Given the description of an element on the screen output the (x, y) to click on. 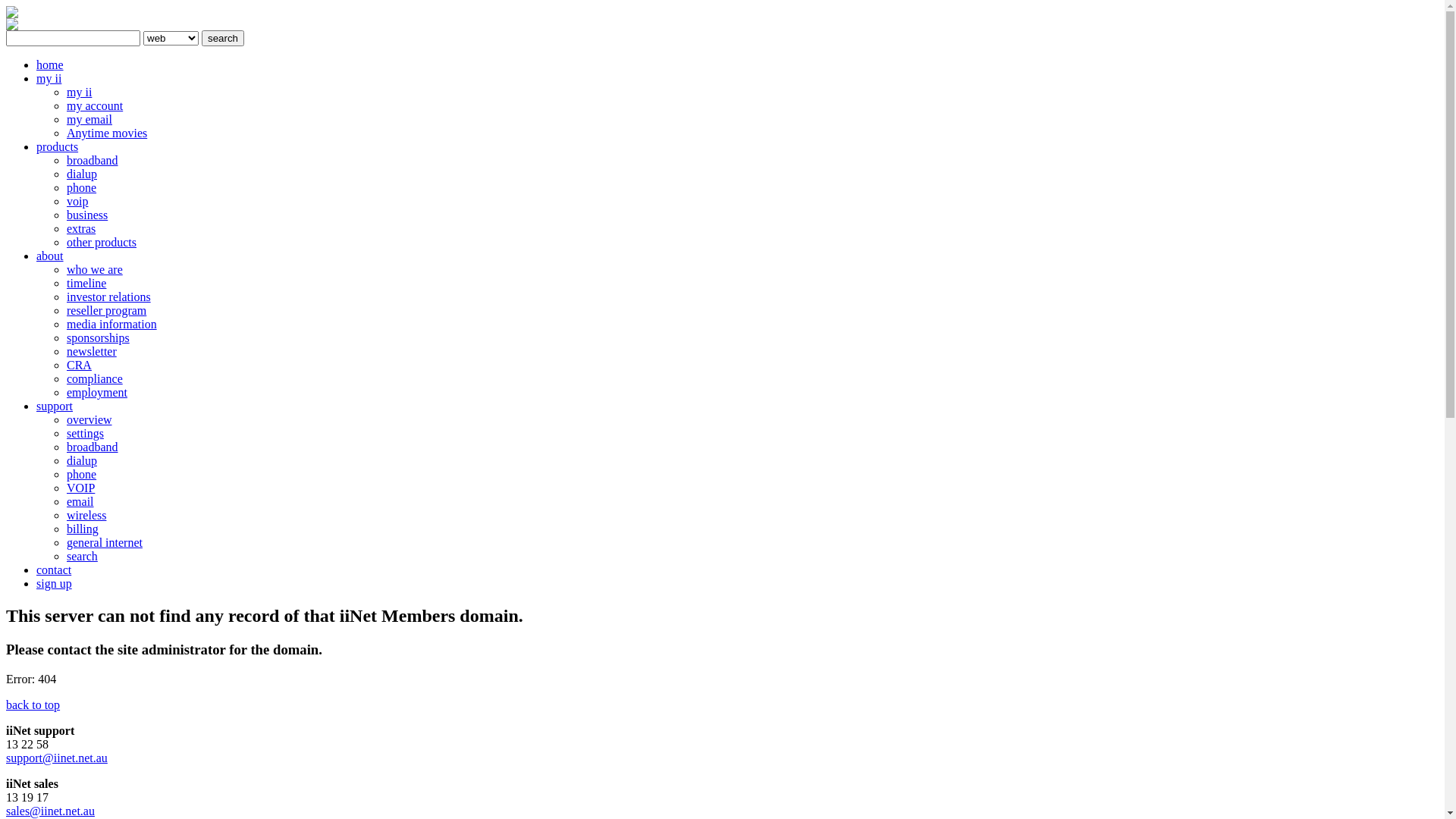
timeline Element type: text (86, 282)
sponsorships Element type: text (97, 337)
settings Element type: text (84, 432)
sign up Element type: text (54, 583)
support@iinet.net.au Element type: text (56, 757)
CRA Element type: text (78, 364)
dialup Element type: text (81, 460)
voip Element type: text (76, 200)
wireless Element type: text (86, 514)
business Element type: text (86, 214)
general internet Element type: text (104, 542)
extras Element type: text (80, 228)
VOIP Element type: text (80, 487)
phone Element type: text (81, 473)
my email Element type: text (89, 118)
my ii Element type: text (48, 78)
dialup Element type: text (81, 173)
broadband Element type: text (92, 159)
other products Element type: text (101, 241)
billing Element type: text (82, 528)
my ii Element type: text (78, 91)
investor relations Element type: text (108, 296)
overview Element type: text (89, 419)
products Element type: text (57, 146)
email Element type: text (80, 501)
phone Element type: text (81, 187)
search Element type: text (222, 38)
reseller program Element type: text (106, 310)
compliance Element type: text (94, 378)
employment Element type: text (96, 391)
broadband Element type: text (92, 446)
about Element type: text (49, 255)
contact Element type: text (53, 569)
back to top Element type: text (32, 704)
sales@iinet.net.au Element type: text (50, 810)
my account Element type: text (94, 105)
media information Element type: text (111, 323)
support Element type: text (54, 405)
search Element type: text (81, 555)
who we are Element type: text (94, 269)
newsletter Element type: text (91, 351)
Anytime movies Element type: text (106, 132)
home Element type: text (49, 64)
